Given the description of an element on the screen output the (x, y) to click on. 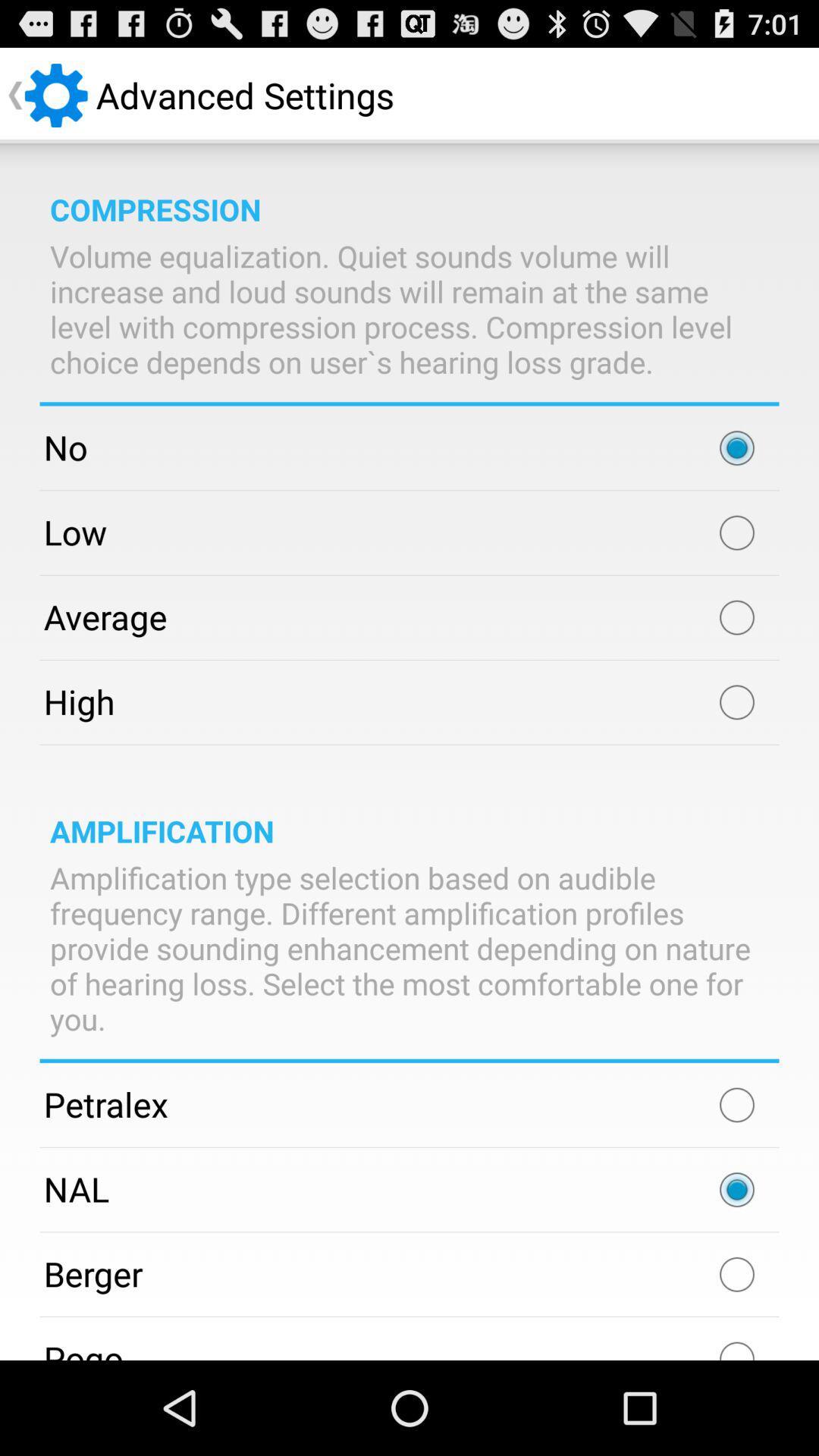
select berger (736, 1274)
